Given the description of an element on the screen output the (x, y) to click on. 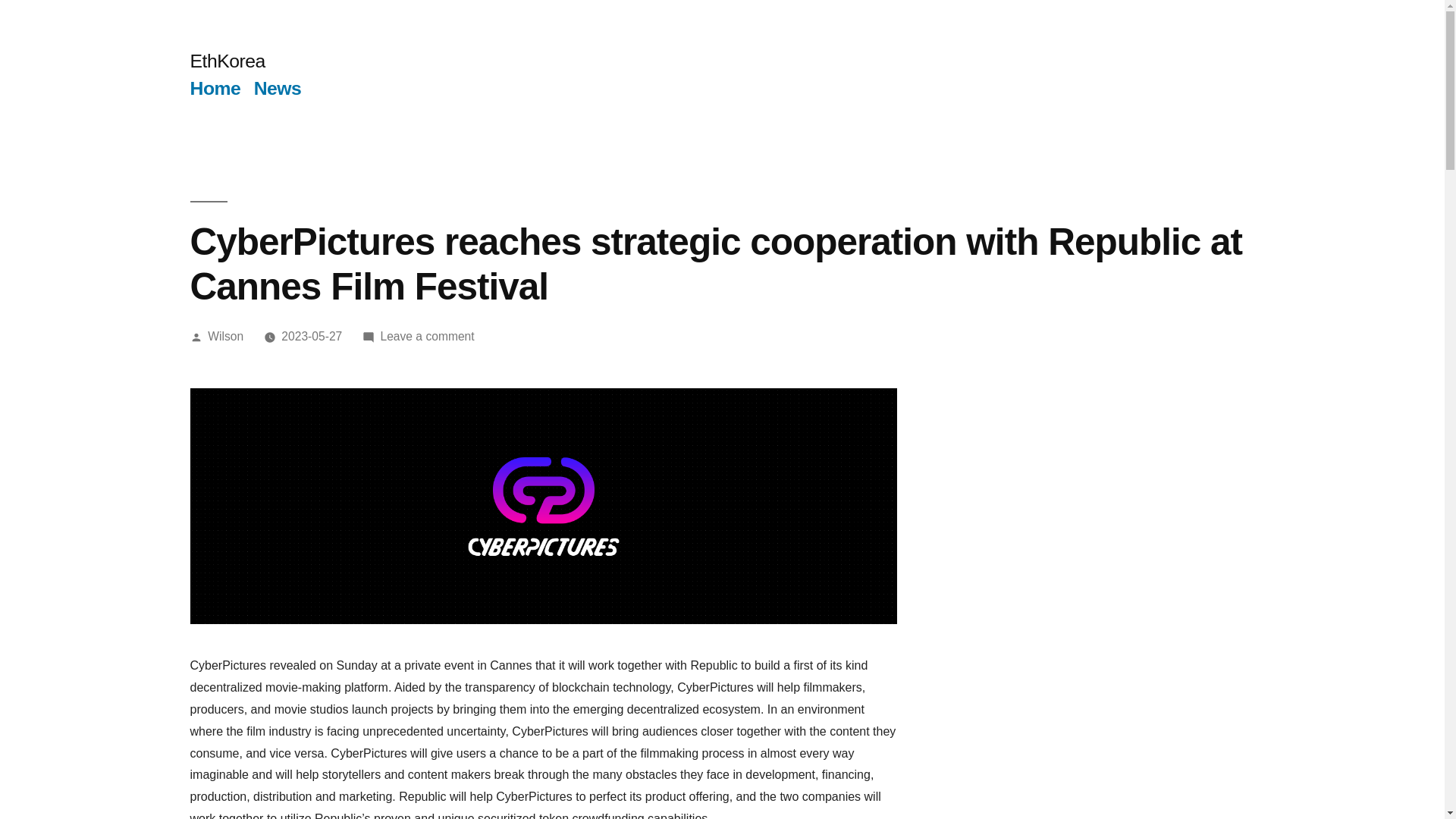
Wilson (225, 336)
Home (214, 87)
EthKorea (226, 60)
2023-05-27 (311, 336)
News (277, 87)
